Given the description of an element on the screen output the (x, y) to click on. 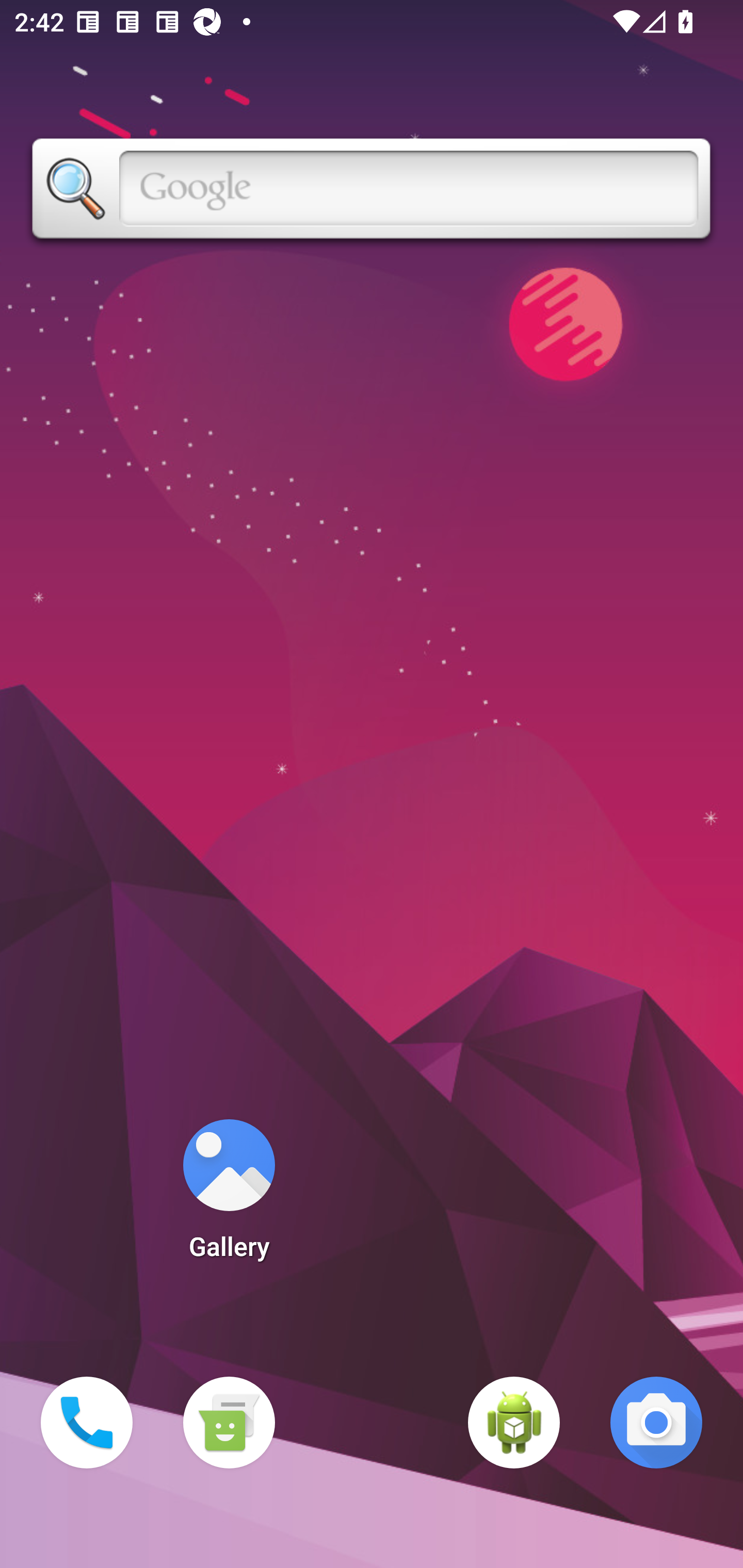
Gallery (228, 1195)
Phone (86, 1422)
Messaging (228, 1422)
WebView Browser Tester (513, 1422)
Camera (656, 1422)
